Given the description of an element on the screen output the (x, y) to click on. 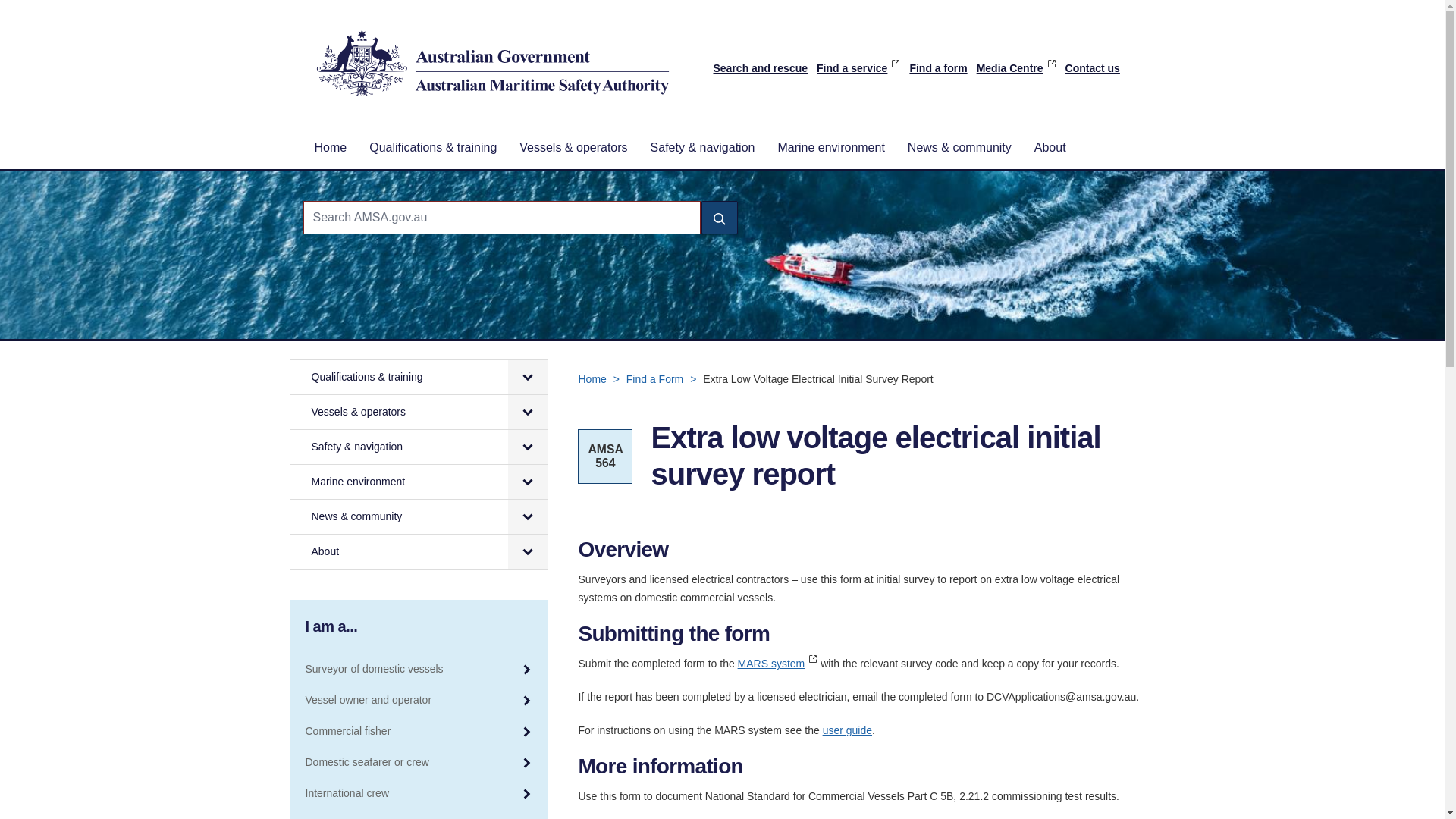
Search and rescue (760, 68)
Contact us (1092, 68)
Media Centre (1016, 68)
Skip to main content (721, 1)
open-menu (527, 376)
Find a form (937, 68)
Go (718, 217)
open-menu (527, 411)
Find a service (857, 68)
Home (330, 147)
